Given the description of an element on the screen output the (x, y) to click on. 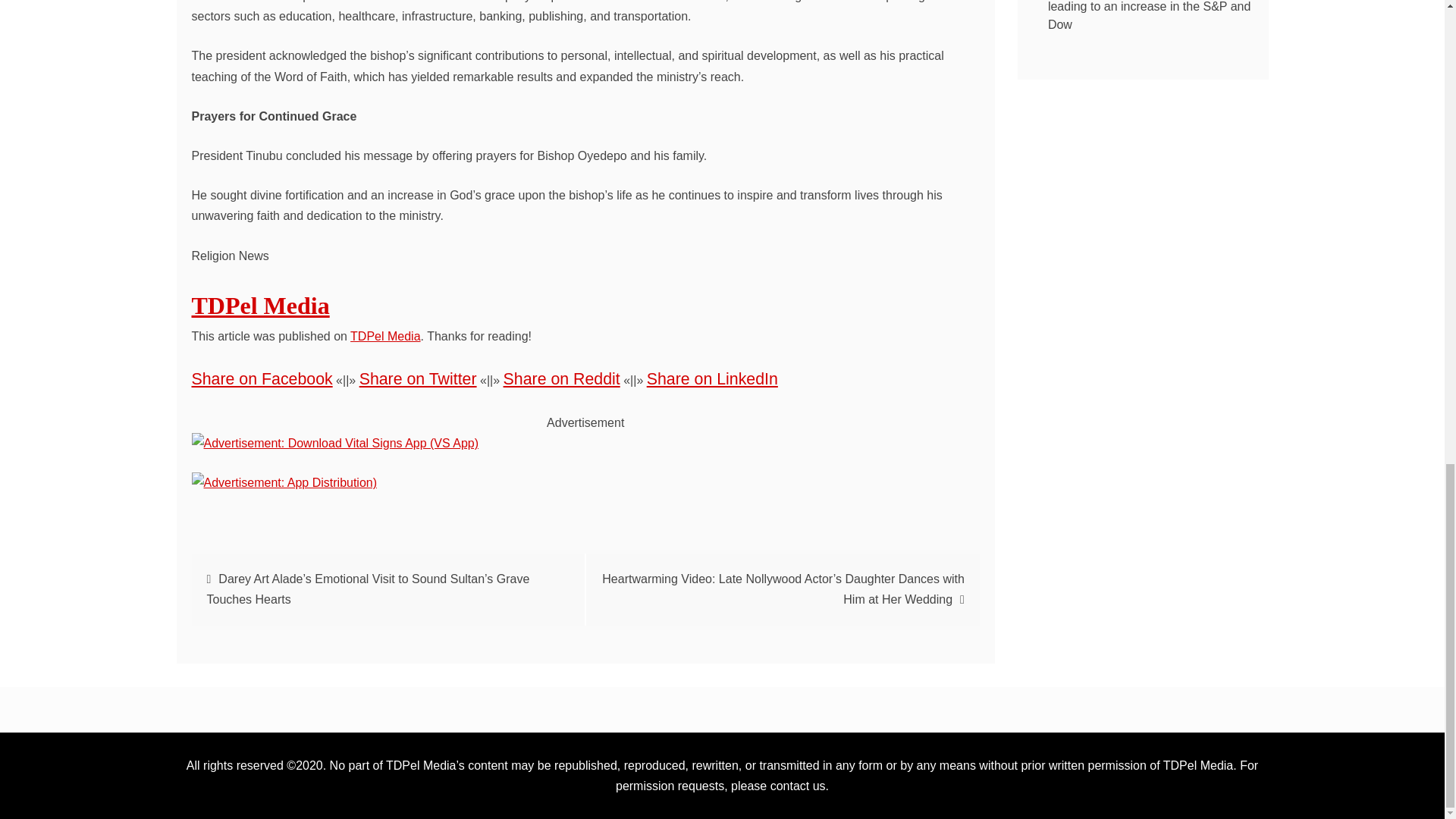
TDPel Media (259, 305)
TDPel Media (385, 336)
Share on Facebook (260, 379)
